Given the description of an element on the screen output the (x, y) to click on. 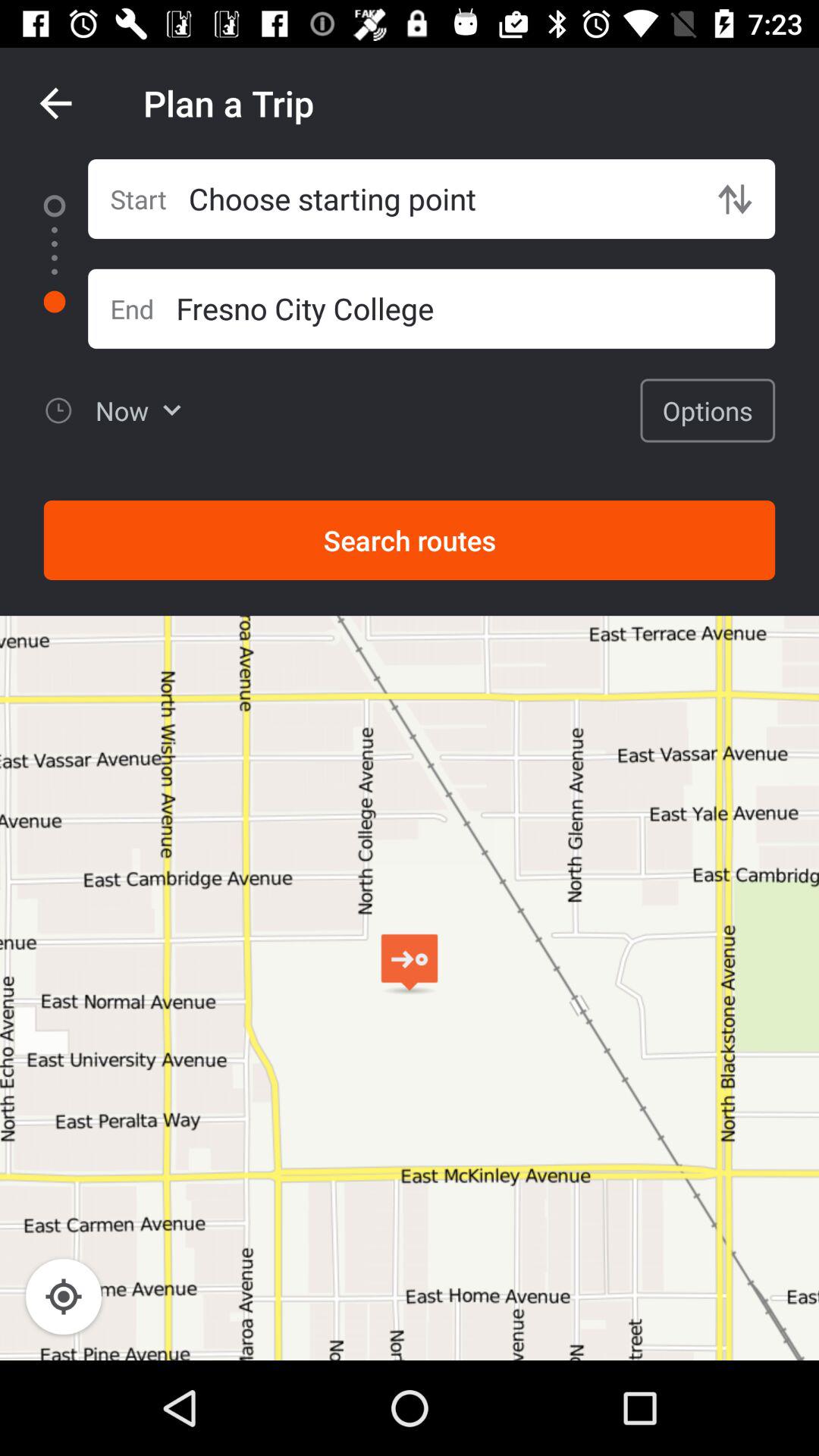
launch item next to choose starting point item (735, 198)
